Given the description of an element on the screen output the (x, y) to click on. 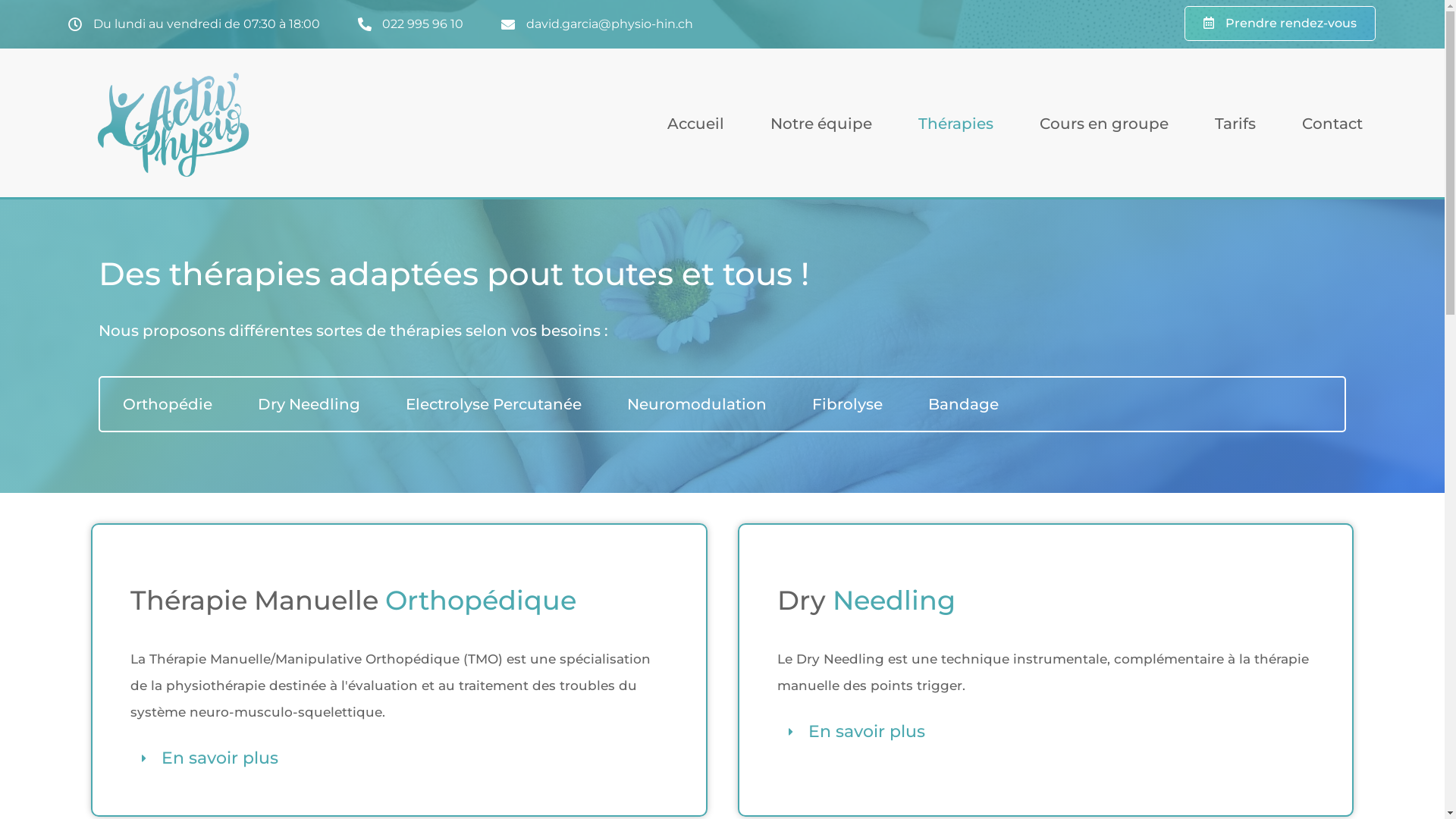
En savoir plus Element type: text (866, 731)
Accueil Element type: text (695, 123)
Contact Element type: text (1332, 123)
Cours en groupe Element type: text (1104, 123)
Tarifs Element type: text (1235, 123)
Fibrolyse Element type: text (847, 403)
Bandage Element type: text (963, 403)
Neuromodulation Element type: text (696, 403)
En savoir plus Element type: text (219, 757)
Dry Needling Element type: text (308, 403)
david.garcia@physio-hin.ch Element type: text (597, 24)
Prendre rendez-vous Element type: text (1279, 23)
